Given the description of an element on the screen output the (x, y) to click on. 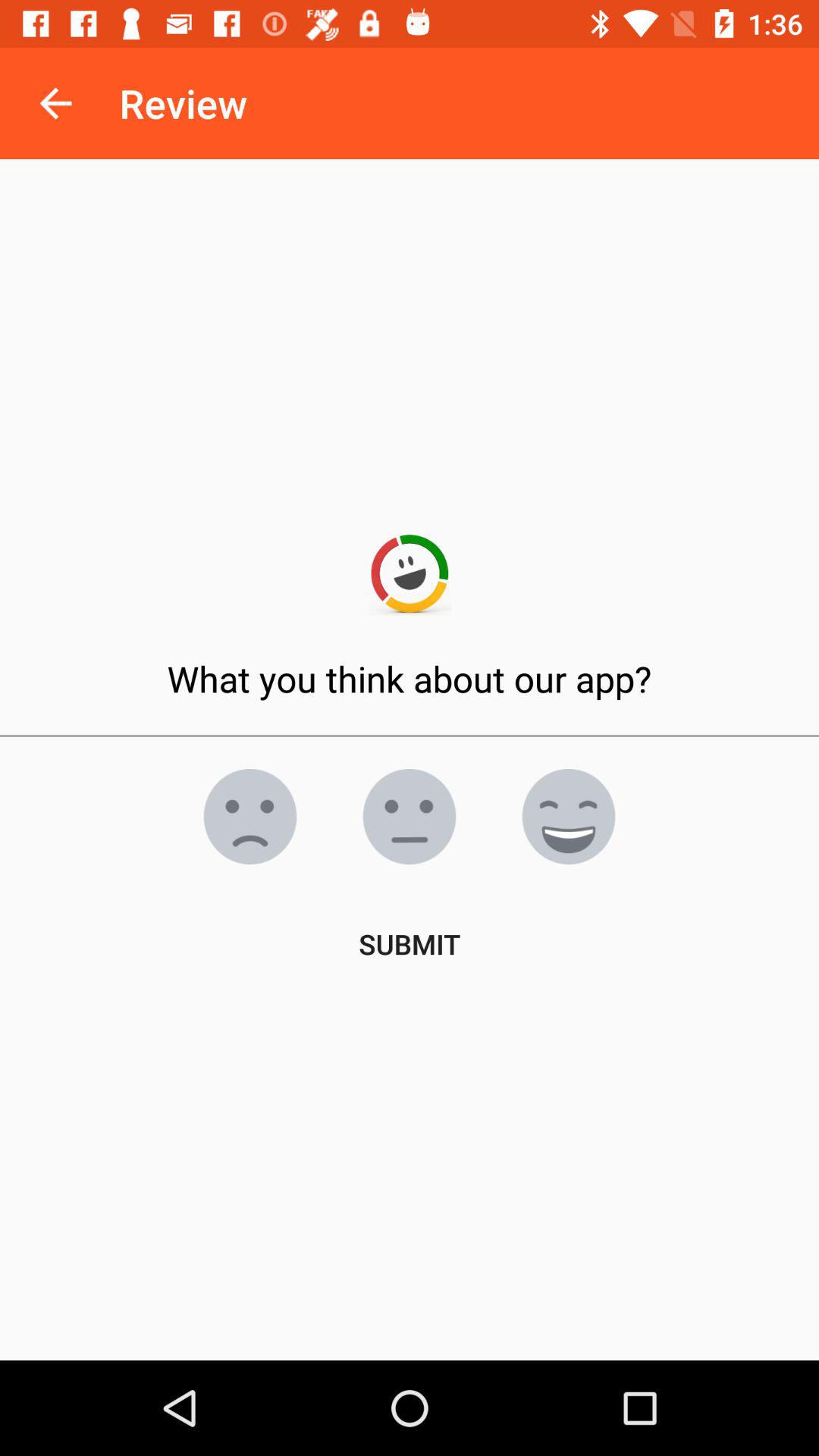
neutral opinion smiley (409, 816)
